Given the description of an element on the screen output the (x, y) to click on. 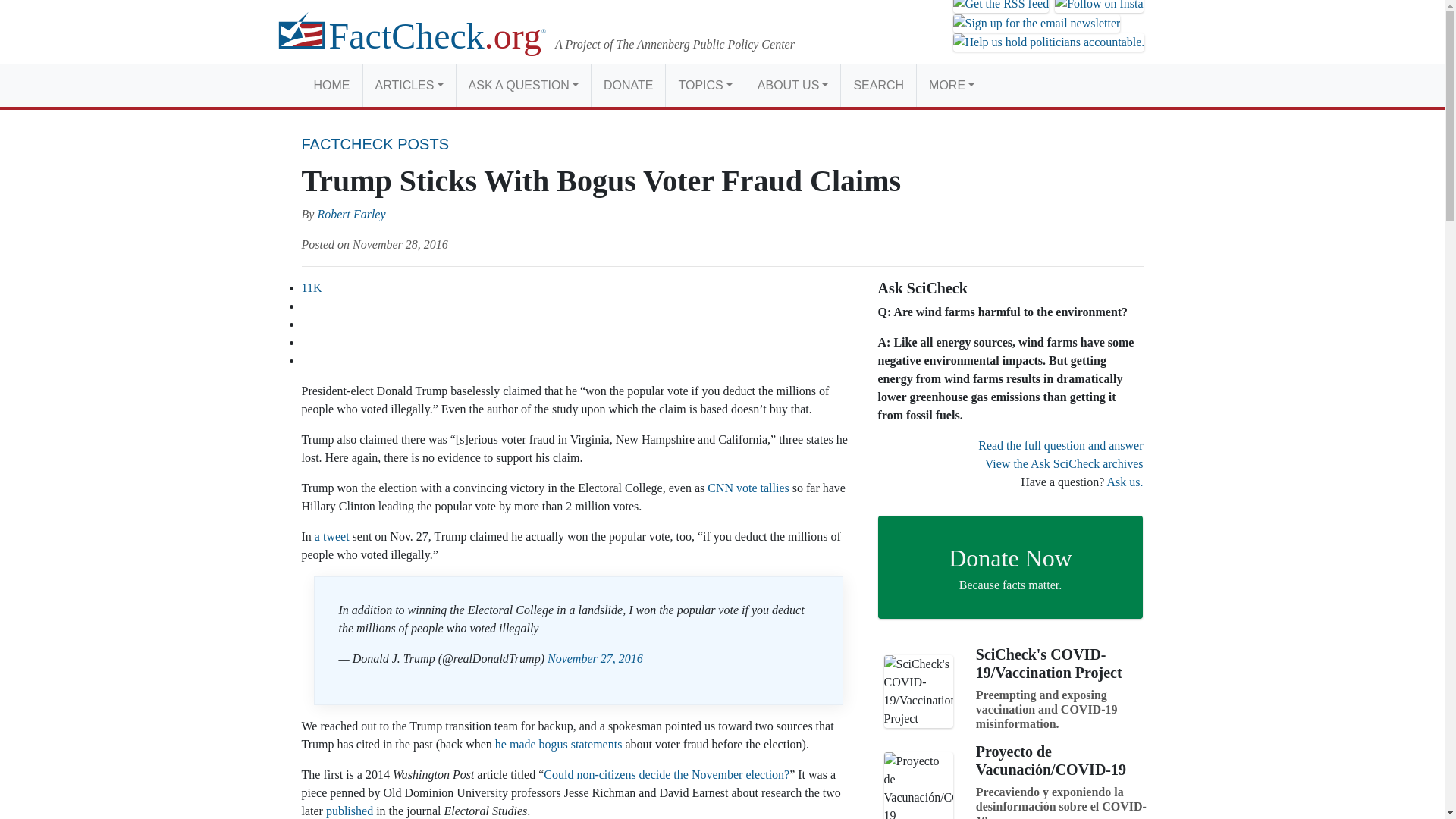
HOME (331, 85)
ARTICLES (408, 85)
ASK A QUESTION (524, 85)
Home (331, 85)
Articles (408, 85)
Ask a Question (524, 85)
DONATE (627, 85)
Donate (627, 85)
Topics (704, 85)
TOPICS (704, 85)
ABOUT US (792, 85)
